Given the description of an element on the screen output the (x, y) to click on. 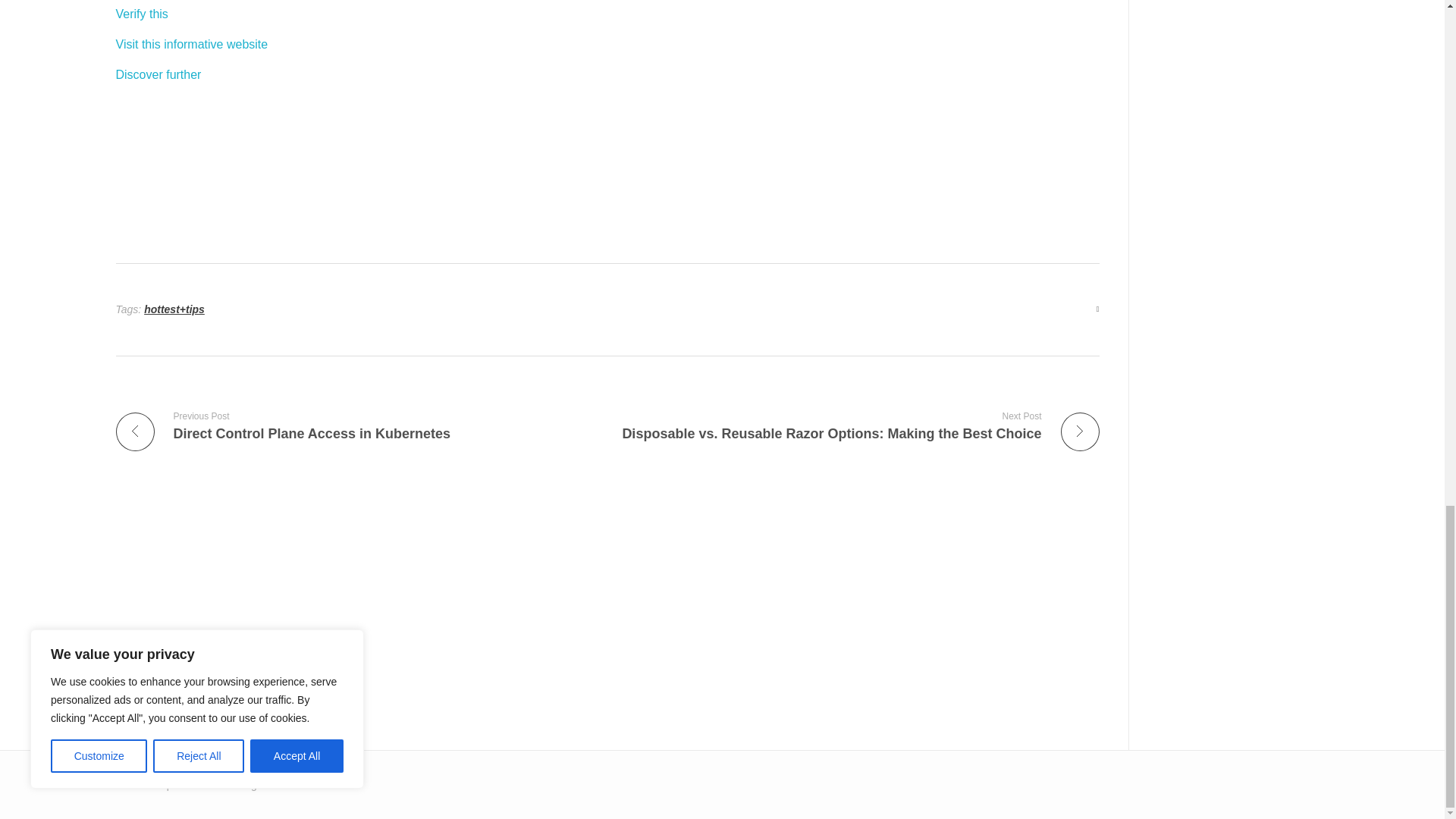
Verify this (141, 13)
Discover further (157, 74)
Visit this informative website (355, 425)
